Given the description of an element on the screen output the (x, y) to click on. 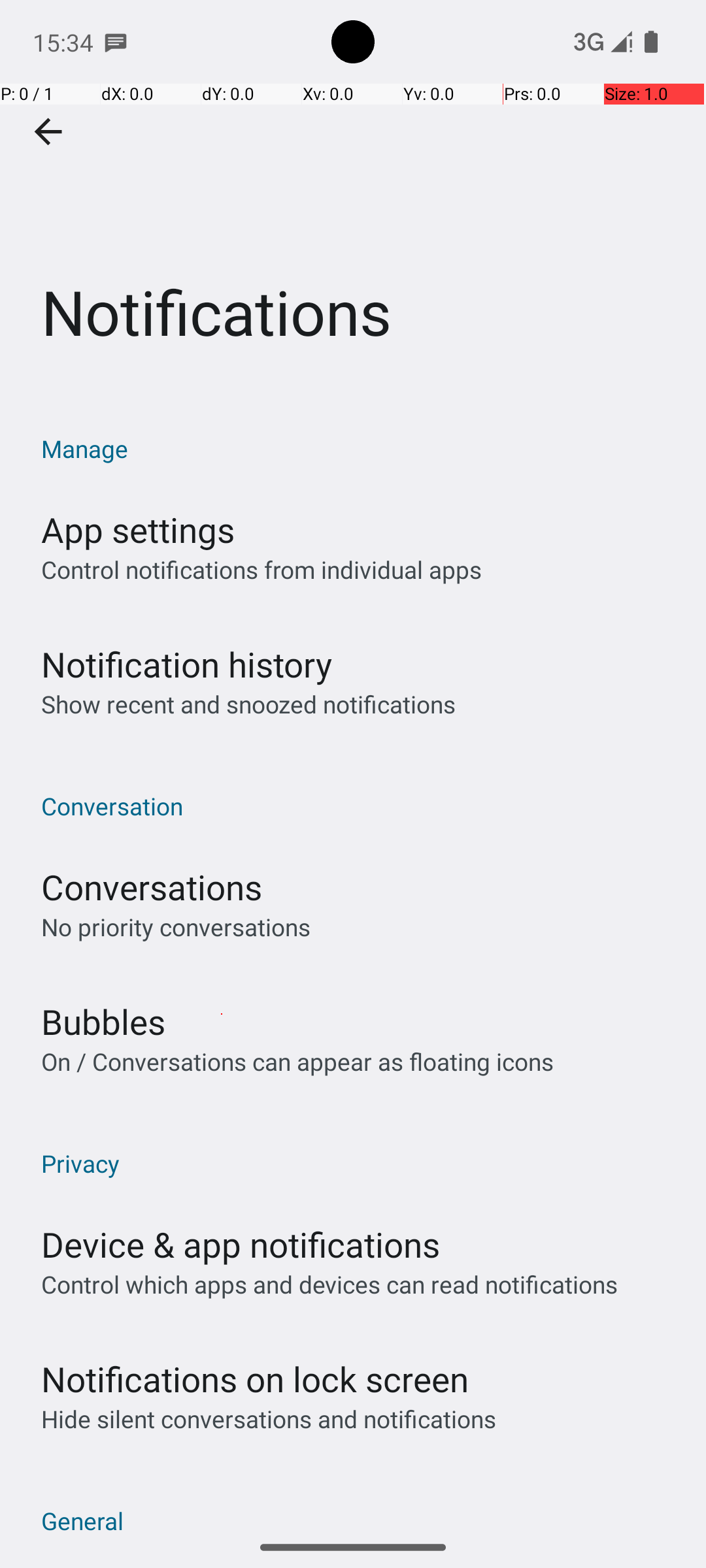
Manage Element type: android.widget.TextView (359, 448)
App settings Element type: android.widget.TextView (137, 529)
Control notifications from individual apps Element type: android.widget.TextView (261, 569)
Show recent and snoozed notifications Element type: android.widget.TextView (248, 703)
Conversation Element type: android.widget.TextView (359, 805)
No priority conversations Element type: android.widget.TextView (175, 926)
Bubbles Element type: android.widget.TextView (103, 1021)
On / Conversations can appear as floating icons Element type: android.widget.TextView (297, 1061)
Privacy Element type: android.widget.TextView (359, 1162)
Control which apps and devices can read notifications Element type: android.widget.TextView (329, 1283)
Notifications on lock screen Element type: android.widget.TextView (254, 1378)
Hide silent conversations and notifications Element type: android.widget.TextView (268, 1418)
